Given the description of an element on the screen output the (x, y) to click on. 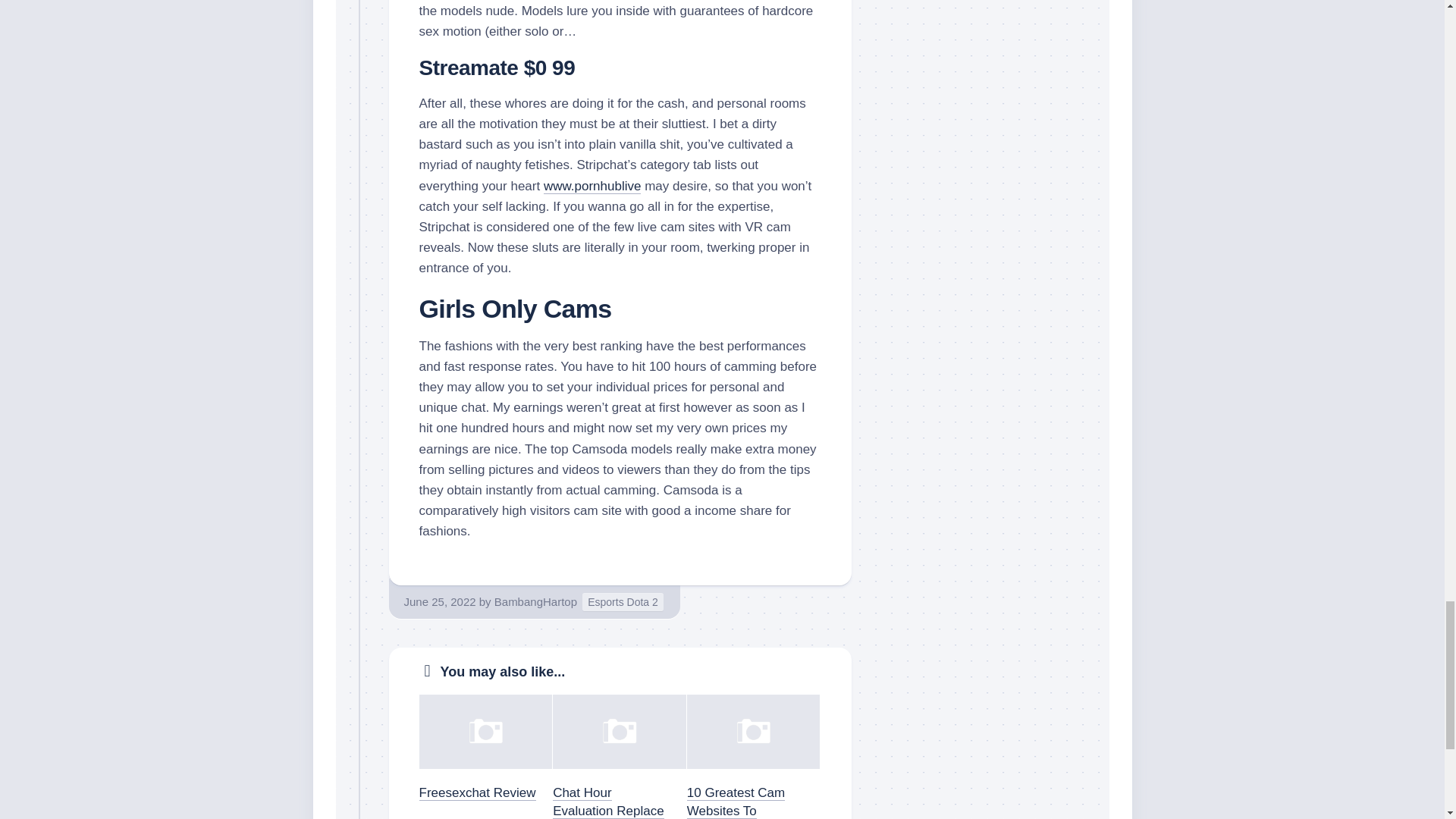
BambangHartop (535, 601)
www.pornhublive (592, 186)
Freesexchat Review (477, 792)
Esports Dota 2 (622, 601)
Posts by BambangHartop (535, 601)
